Given the description of an element on the screen output the (x, y) to click on. 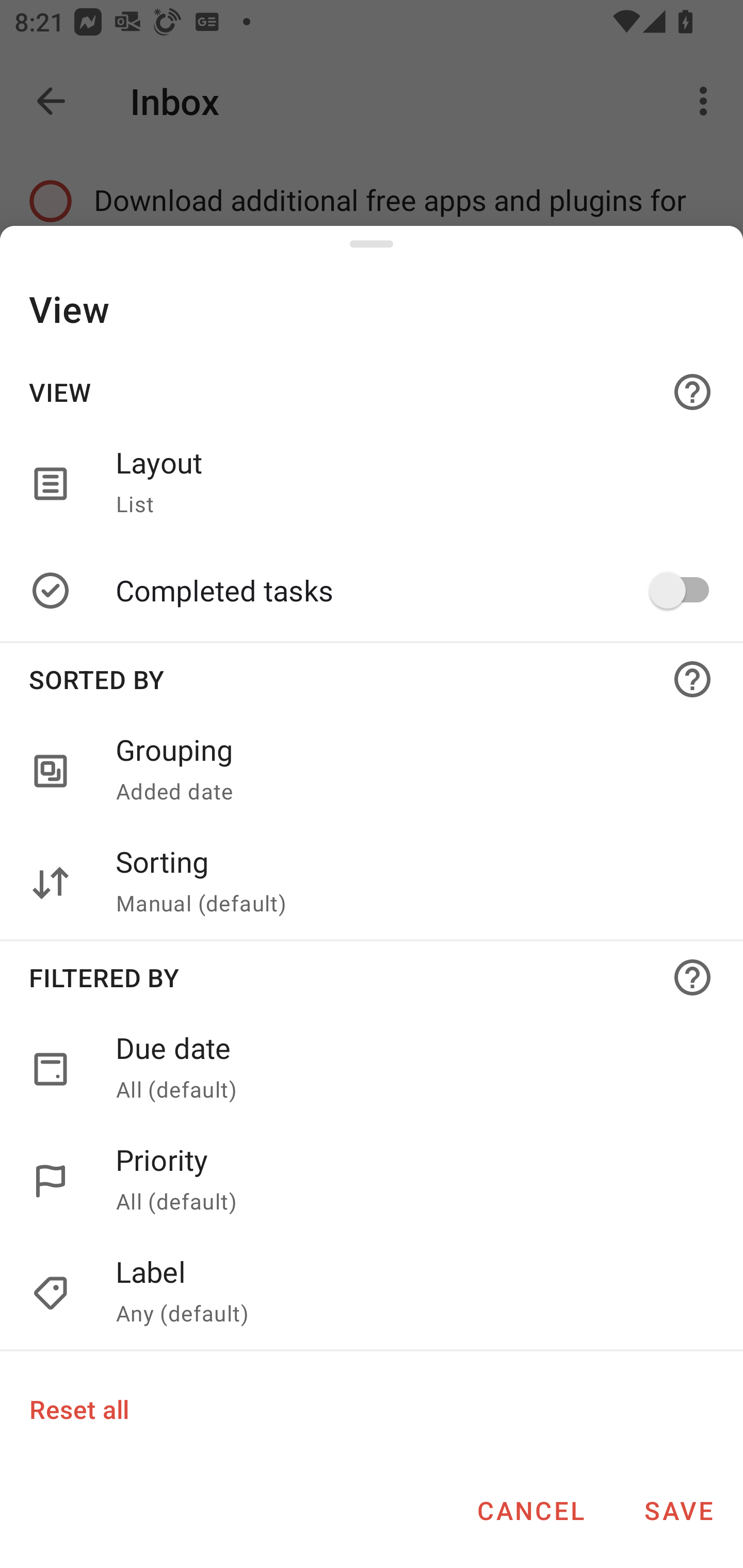
Layout List (371, 483)
Layout List (407, 483)
Completed tasks (407, 590)
SORTED BY (371, 678)
Grouping Added date (371, 771)
Grouping Added date (407, 771)
Sorting Manual (default) (371, 883)
Sorting Manual (default) (407, 883)
FILTERED BY (371, 976)
Due date All (default) (371, 1068)
Due date All (default) (407, 1068)
Priority All (default) (371, 1181)
Priority All (default) (407, 1181)
Label Any (default) (371, 1293)
Label Any (default) (407, 1293)
Reset all (78, 1408)
CANCEL (530, 1510)
SAVE (678, 1510)
